Given the description of an element on the screen output the (x, y) to click on. 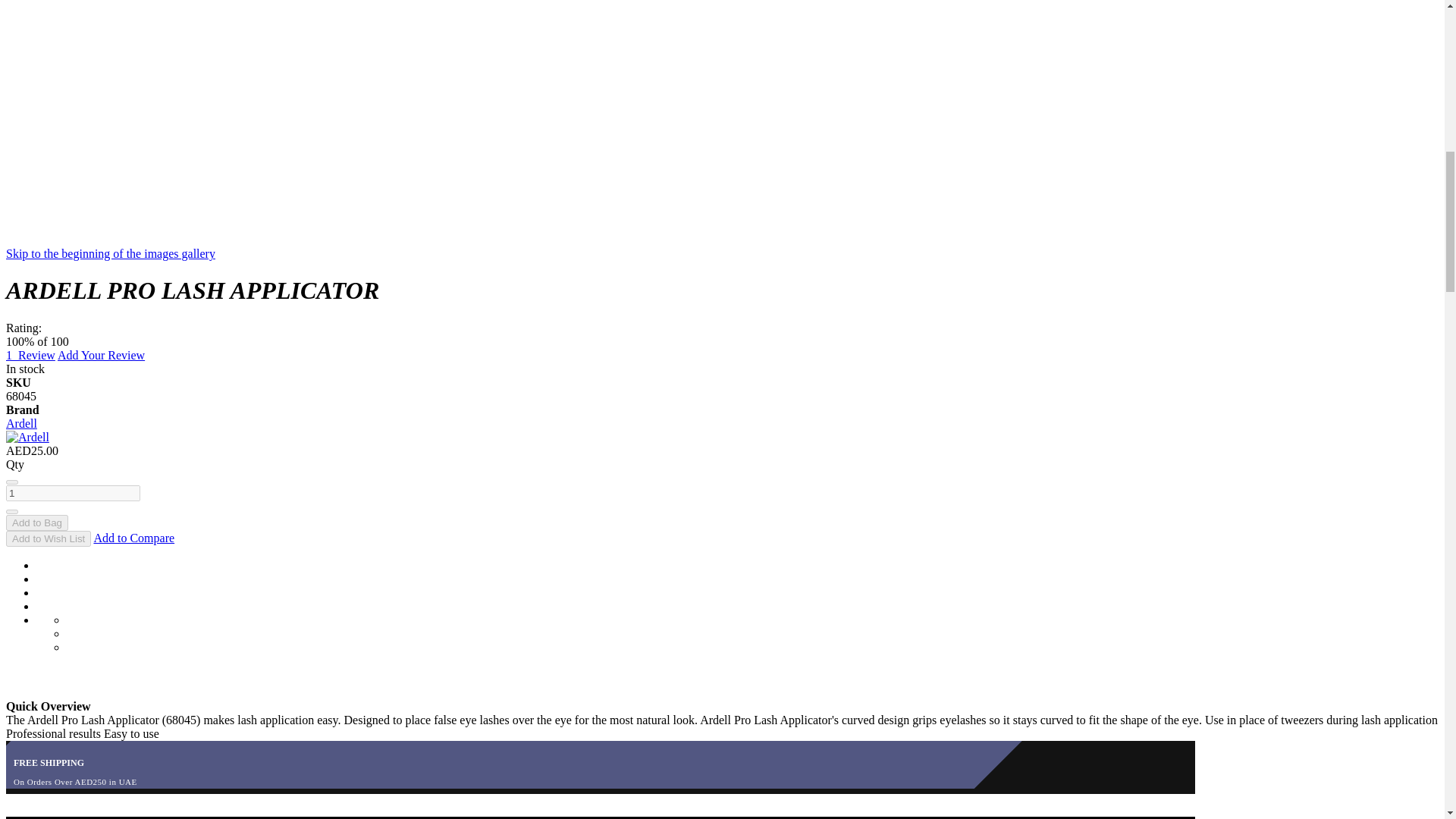
Decrease (11, 481)
Increase (11, 511)
1 (72, 493)
Qty (72, 493)
Add to Bag (36, 522)
Ardell (27, 436)
